Given the description of an element on the screen output the (x, y) to click on. 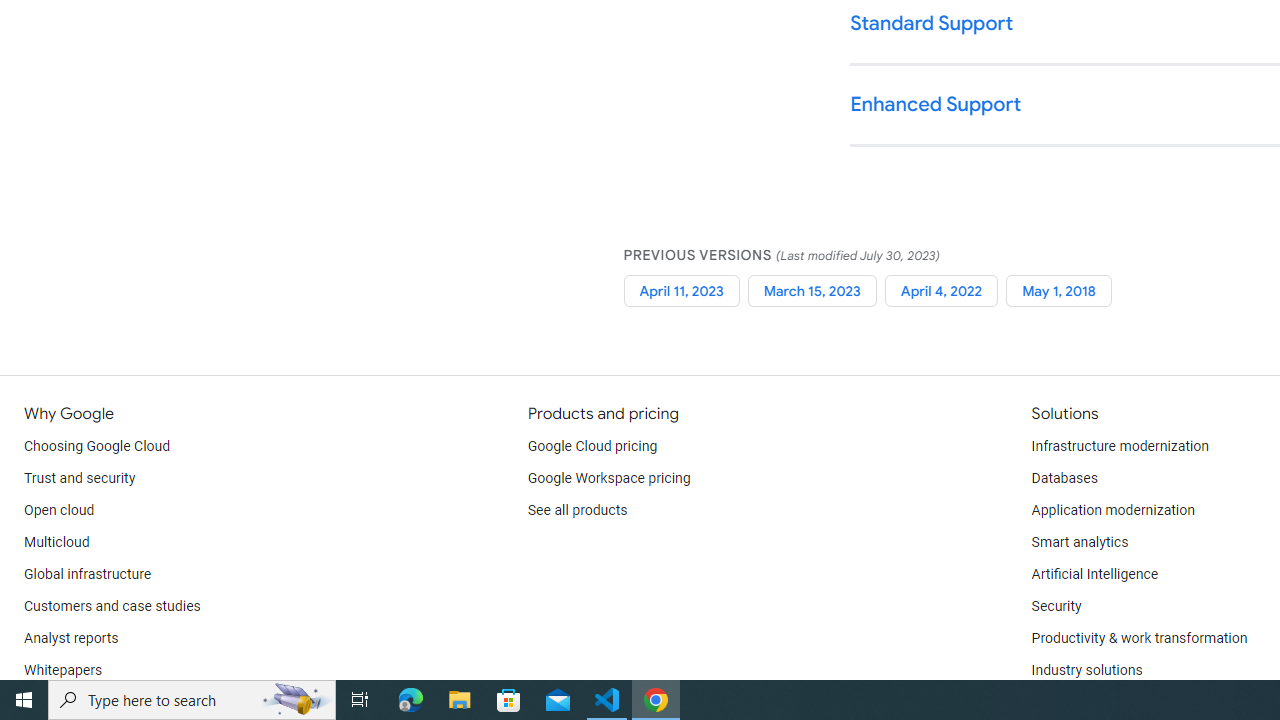
April 11, 2023 (681, 290)
Multicloud (56, 542)
Application modernization (1112, 511)
Google Cloud pricing (592, 446)
See all products (577, 511)
Customers and case studies (112, 606)
Google Workspace pricing (609, 478)
Choosing Google Cloud (97, 446)
Artificial Intelligence (1094, 574)
